Given the description of an element on the screen output the (x, y) to click on. 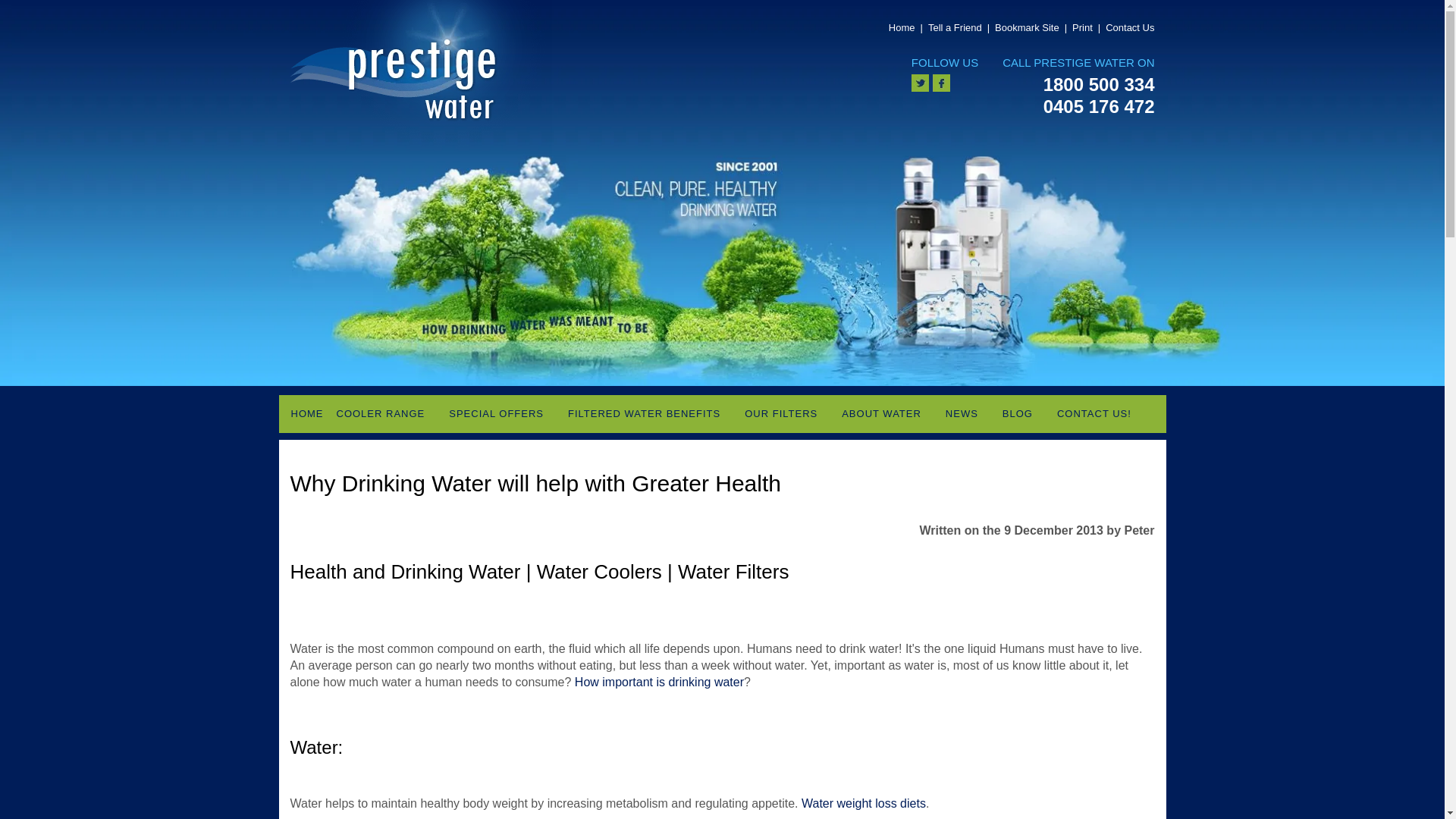
Tell a Friend (954, 27)
1800 500 334 (1078, 85)
CONTACT US! (1094, 413)
Print (1082, 27)
Home (901, 27)
Bookmark Site (1026, 27)
HOME (306, 413)
NEWS (961, 413)
Contact Us (1129, 27)
Tell a Friend (954, 27)
